Given the description of an element on the screen output the (x, y) to click on. 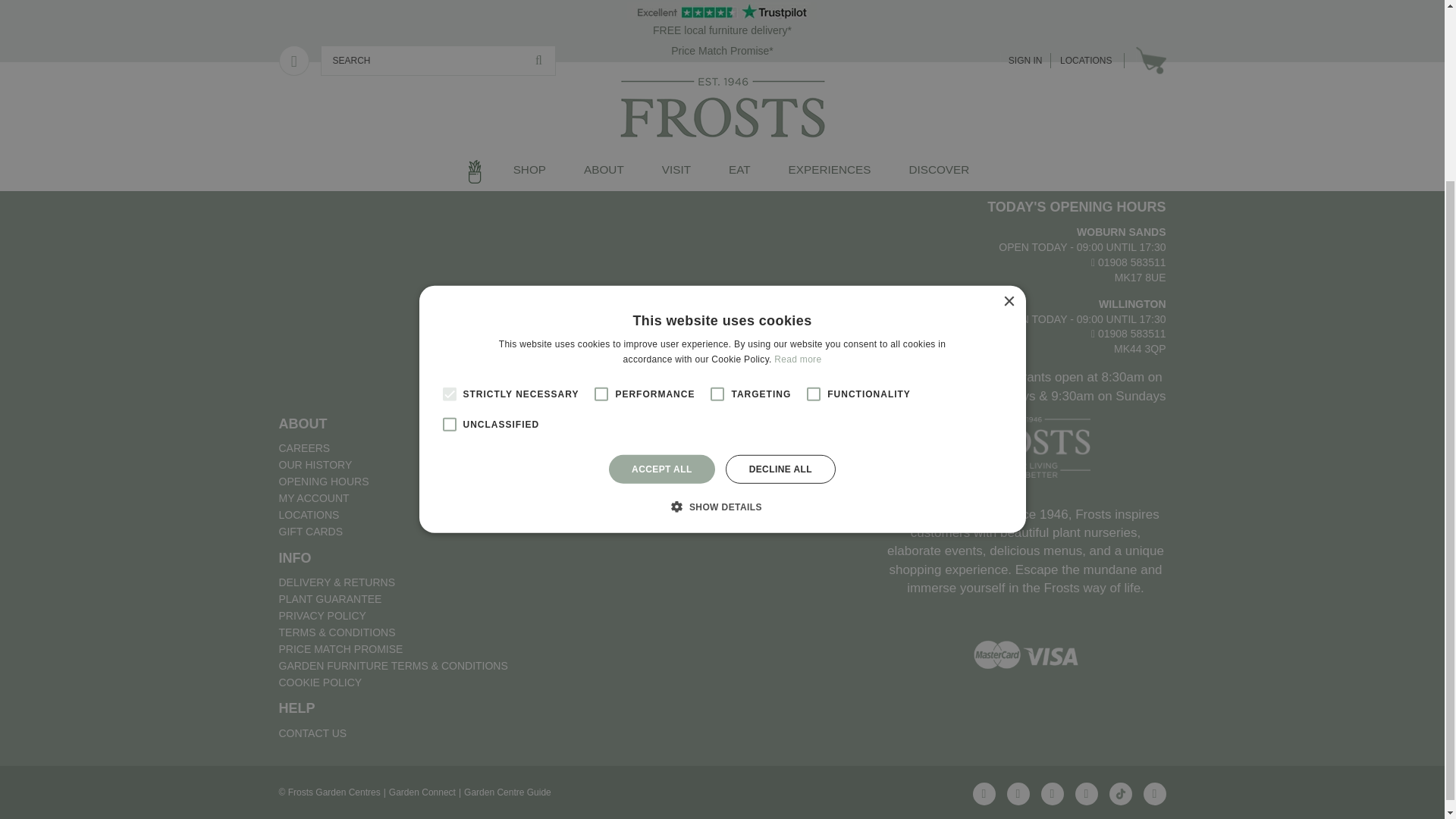
Submit (1054, 116)
1 (513, 148)
